Given the description of an element on the screen output the (x, y) to click on. 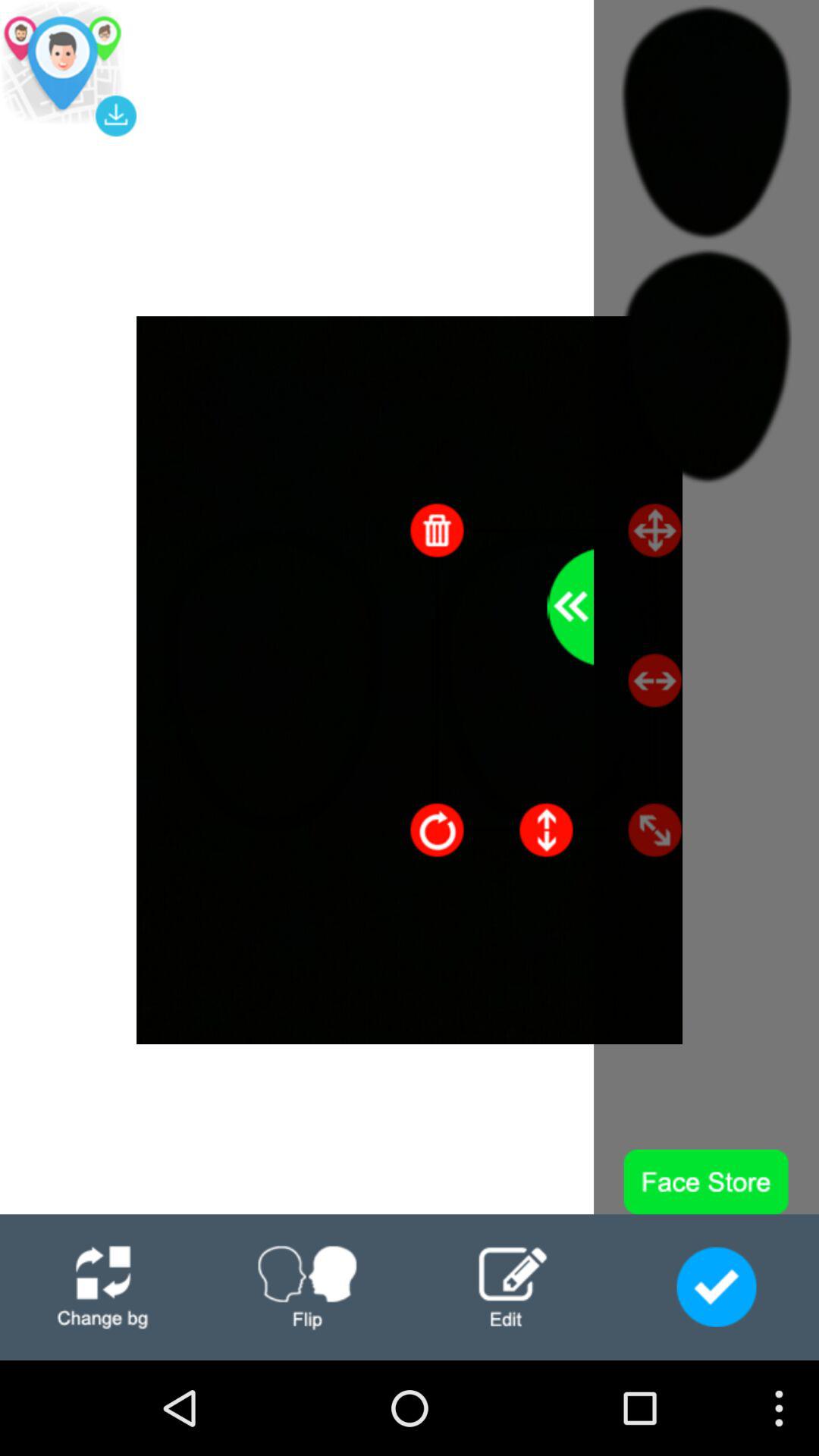
icon page (306, 1287)
